Given the description of an element on the screen output the (x, y) to click on. 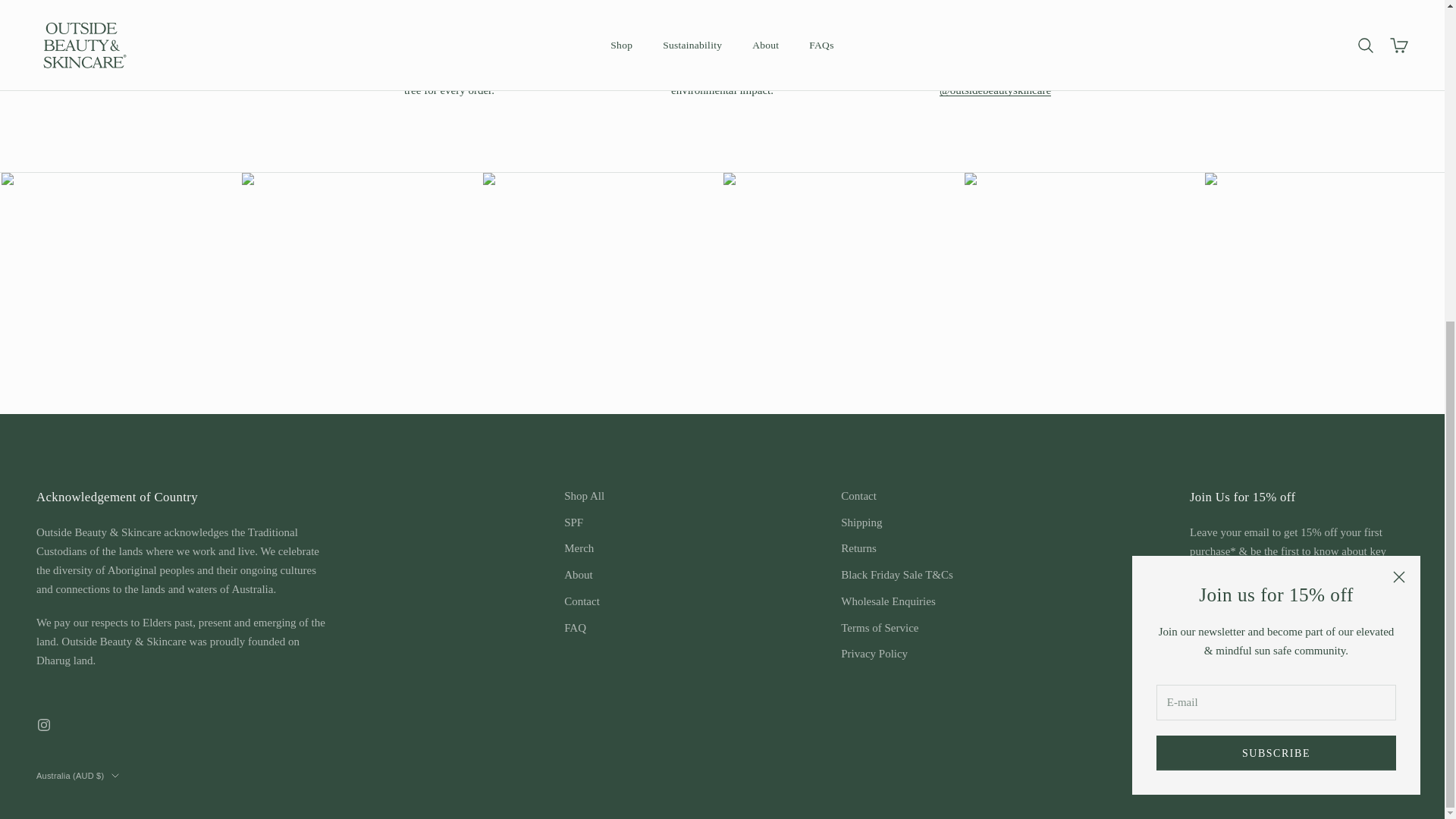
Close (1399, 55)
SUBSCRIBE (1276, 230)
